Given the description of an element on the screen output the (x, y) to click on. 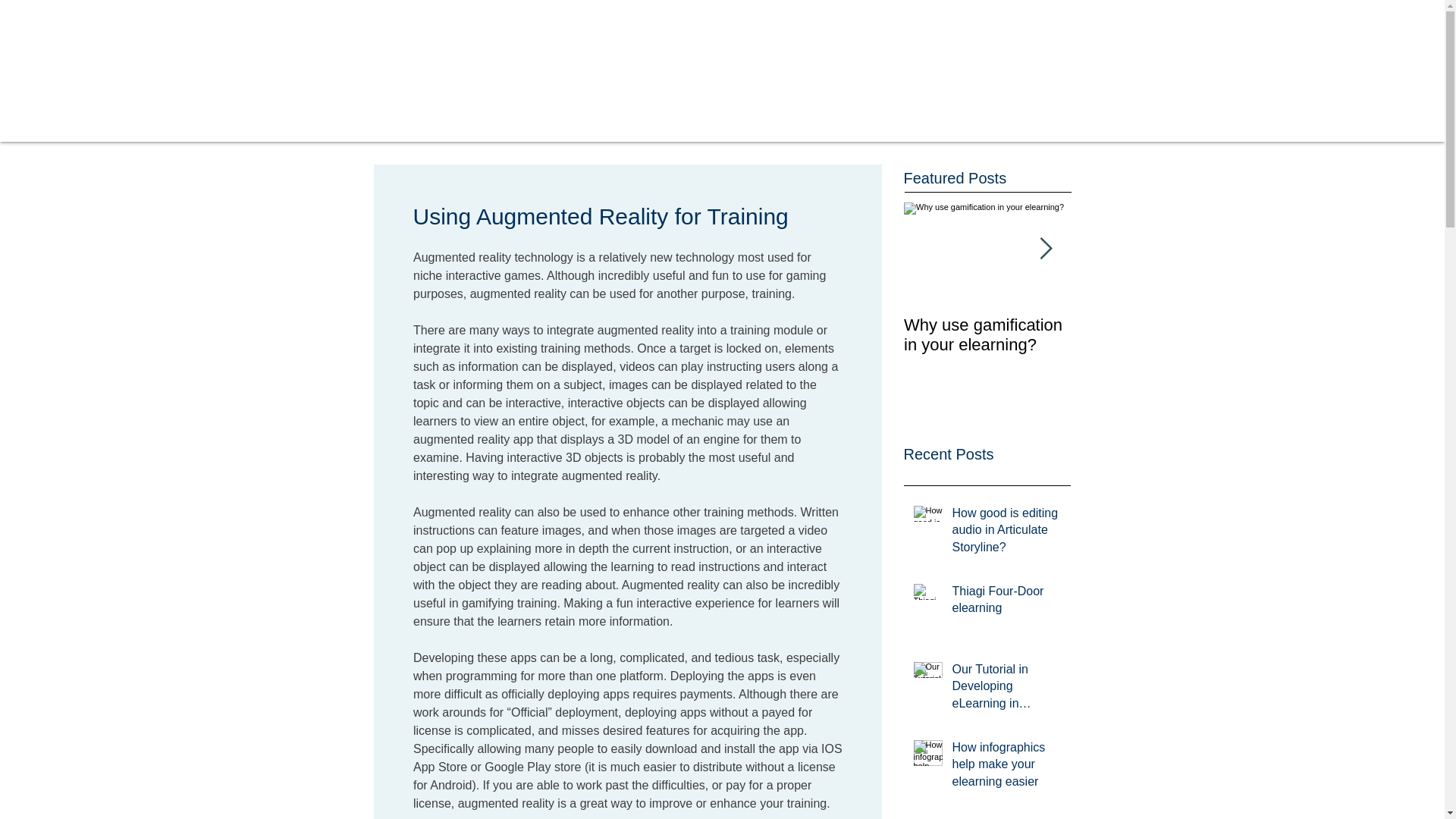
Our Tutorial in Developing eLearning in Captivate (1006, 689)
Thiagi Four-Door elearning (1006, 603)
How infographics help make your elearning easier (1006, 767)
eLearning Modules on Social Media Awareness (1153, 344)
How good is editing audio in Articulate Storyline? (1006, 533)
Why use gamification in your elearning? (987, 334)
